Given the description of an element on the screen output the (x, y) to click on. 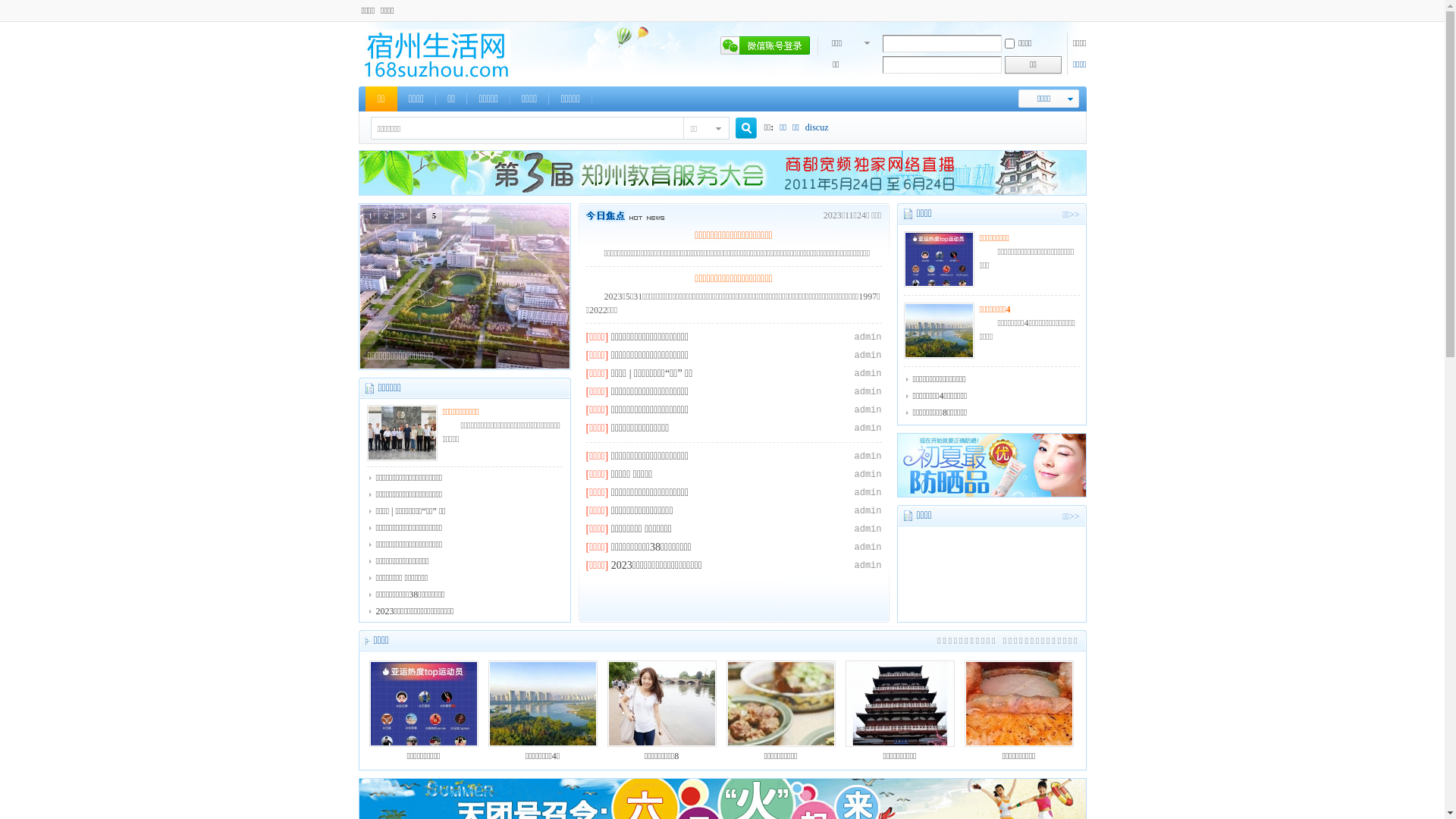
admin Element type: text (867, 529)
admin Element type: text (867, 492)
admin Element type: text (867, 547)
admin Element type: text (867, 409)
admin Element type: text (867, 456)
admin Element type: text (867, 428)
admin Element type: text (867, 337)
discuz Element type: text (816, 127)
true Element type: text (740, 128)
admin Element type: text (867, 565)
admin Element type: text (867, 391)
admin Element type: text (867, 474)
admin Element type: text (867, 355)
admin Element type: text (867, 373)
admin Element type: text (867, 510)
